Given the description of an element on the screen output the (x, y) to click on. 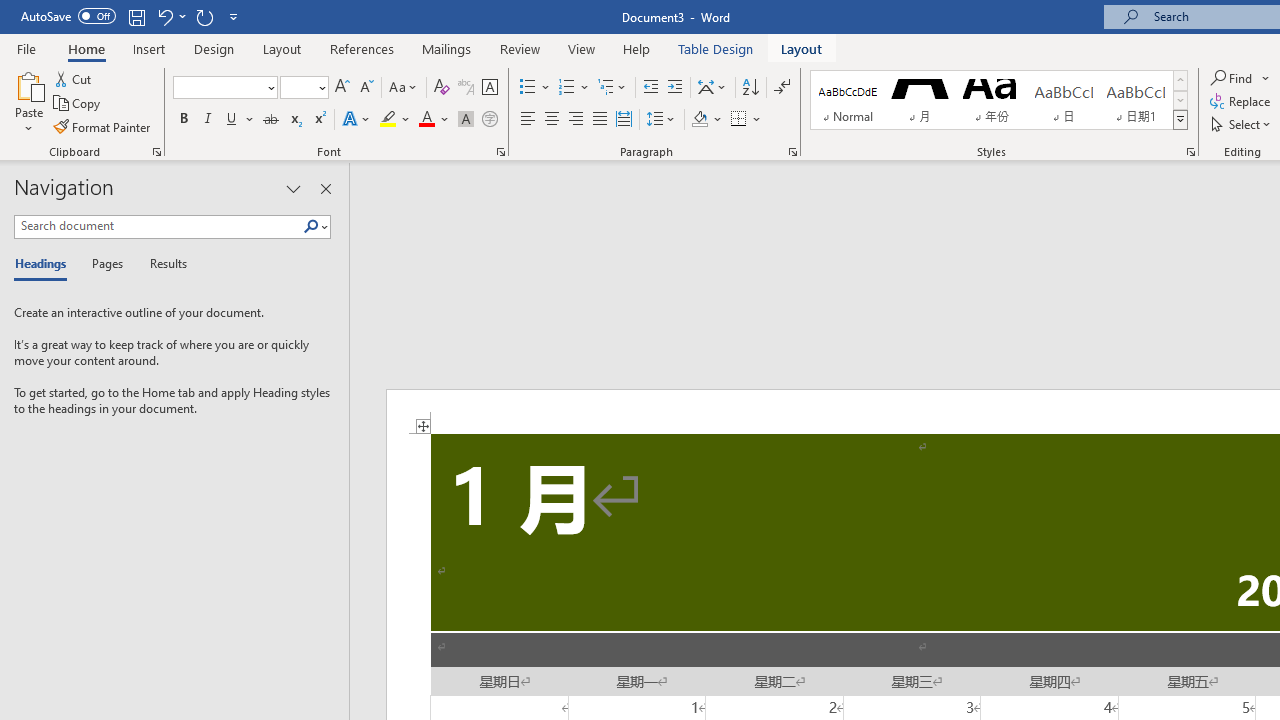
Replace... (1242, 101)
Font Color RGB(255, 0, 0) (426, 119)
